Given the description of an element on the screen output the (x, y) to click on. 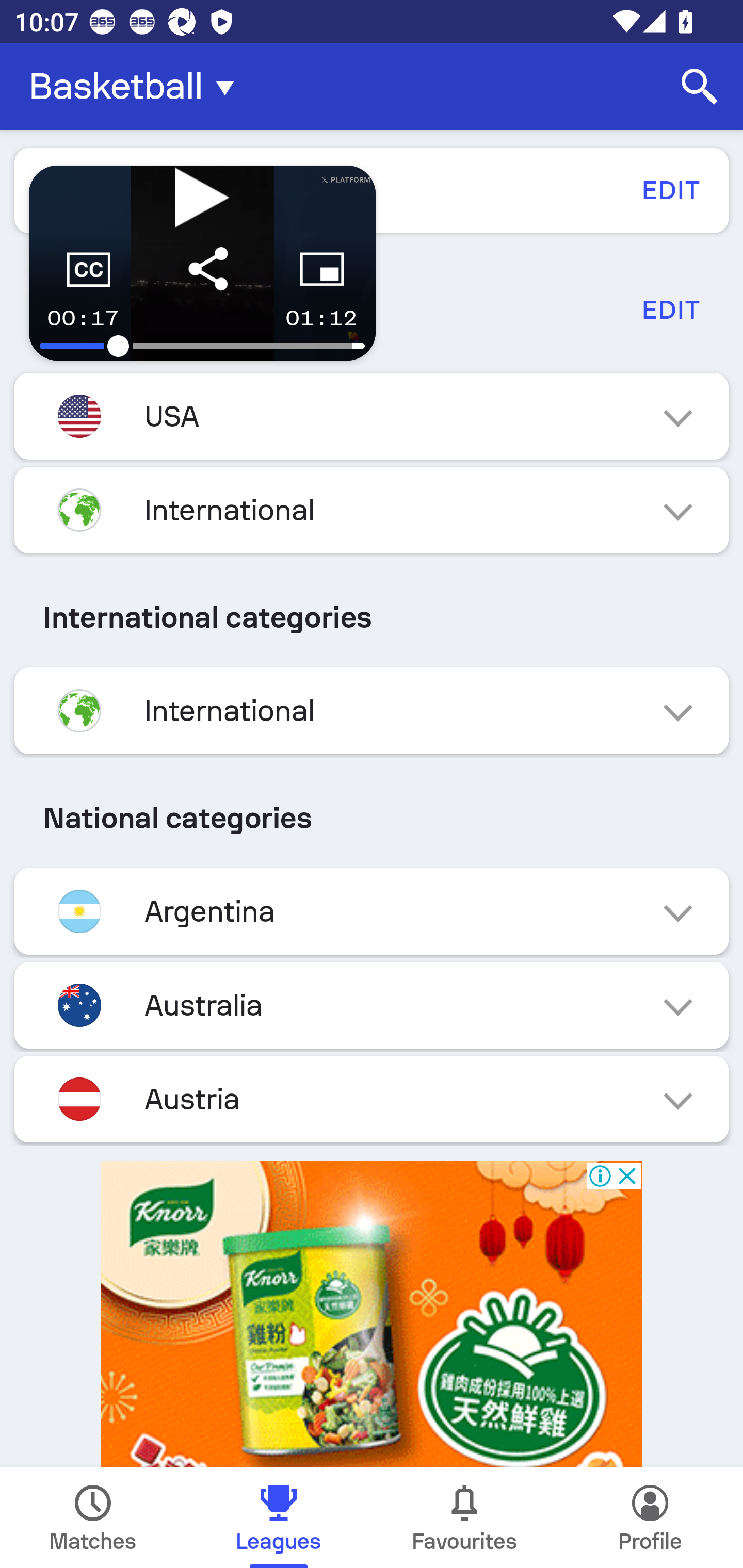
Basketball (137, 86)
Search (699, 86)
EDIT (670, 190)
EDIT (670, 309)
USA (371, 416)
International (371, 510)
International categories (371, 616)
International (371, 710)
National categories (371, 817)
Argentina (371, 911)
Australia (371, 1004)
Austria (371, 1099)
Advertisement (371, 1313)
Matches (92, 1517)
Favourites (464, 1517)
Profile (650, 1517)
